Given the description of an element on the screen output the (x, y) to click on. 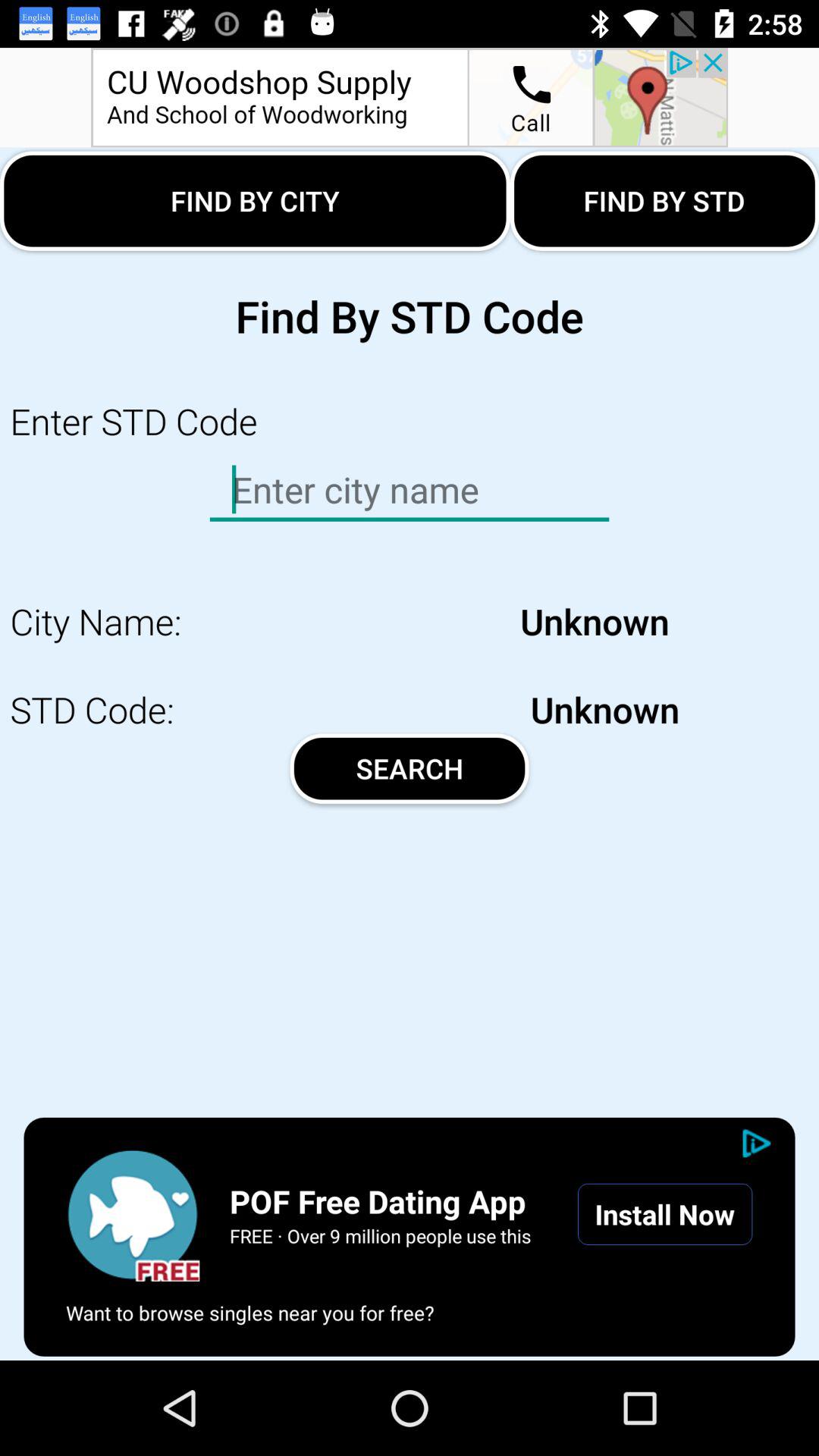
enter text (409, 490)
